Given the description of an element on the screen output the (x, y) to click on. 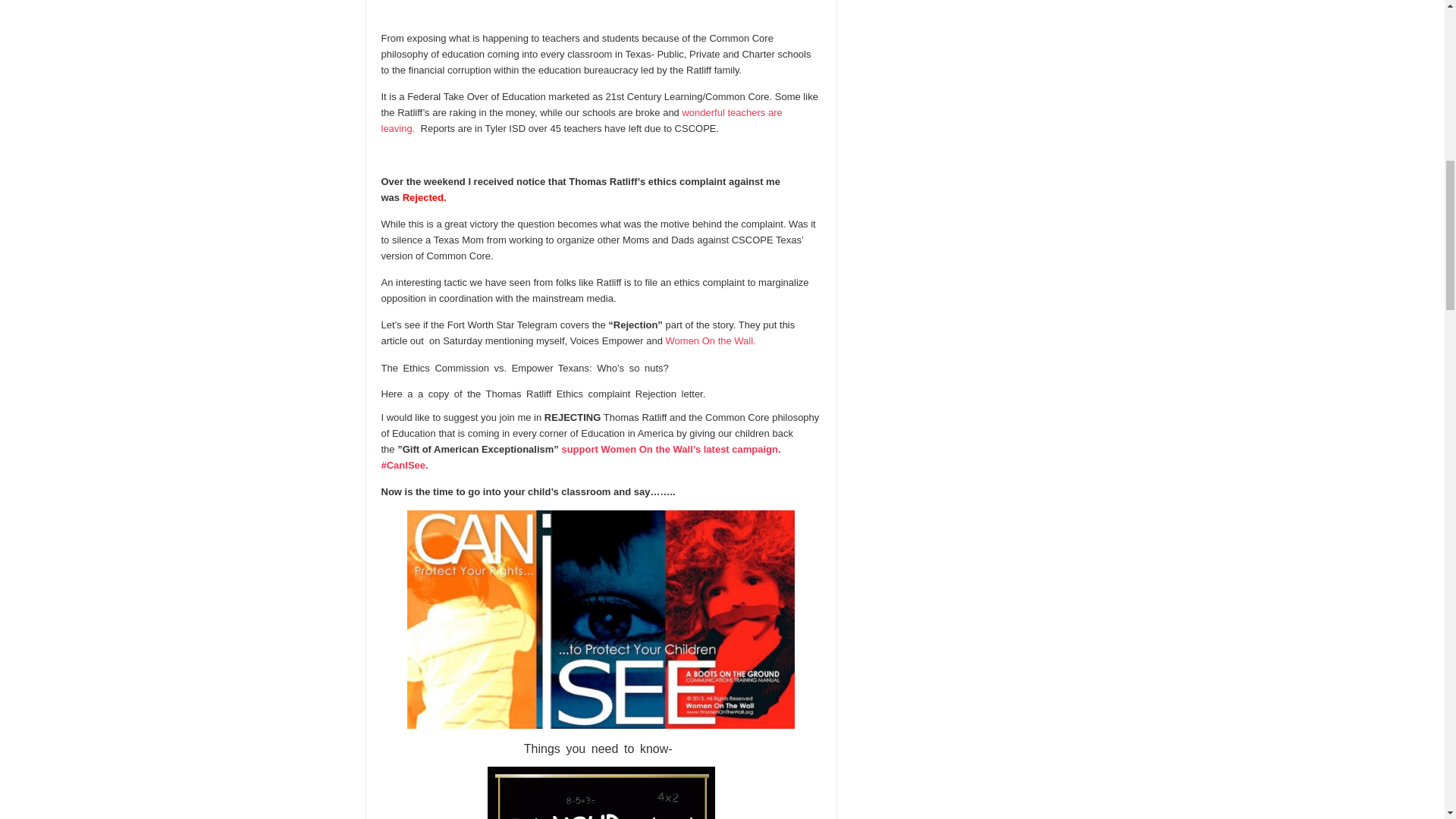
Thomas Ratliff Ethics complaint Rejection letter.  (598, 393)
Women On the Wall.  (711, 340)
Ethics Commission Complaint - Rejected  (425, 197)
Women On The Wall - CAN I SEE  (580, 456)
wonderful teachers are leaving.  (580, 120)
The Ethics Commission vs. Empower Texans and Voices Empower (524, 367)
Thomas Ratliff Ethics Complaint Rejection Letter (598, 393)
Women On the Wall (711, 340)
Teachers Resigning (580, 120)
Rejected.  (425, 197)
